Given the description of an element on the screen output the (x, y) to click on. 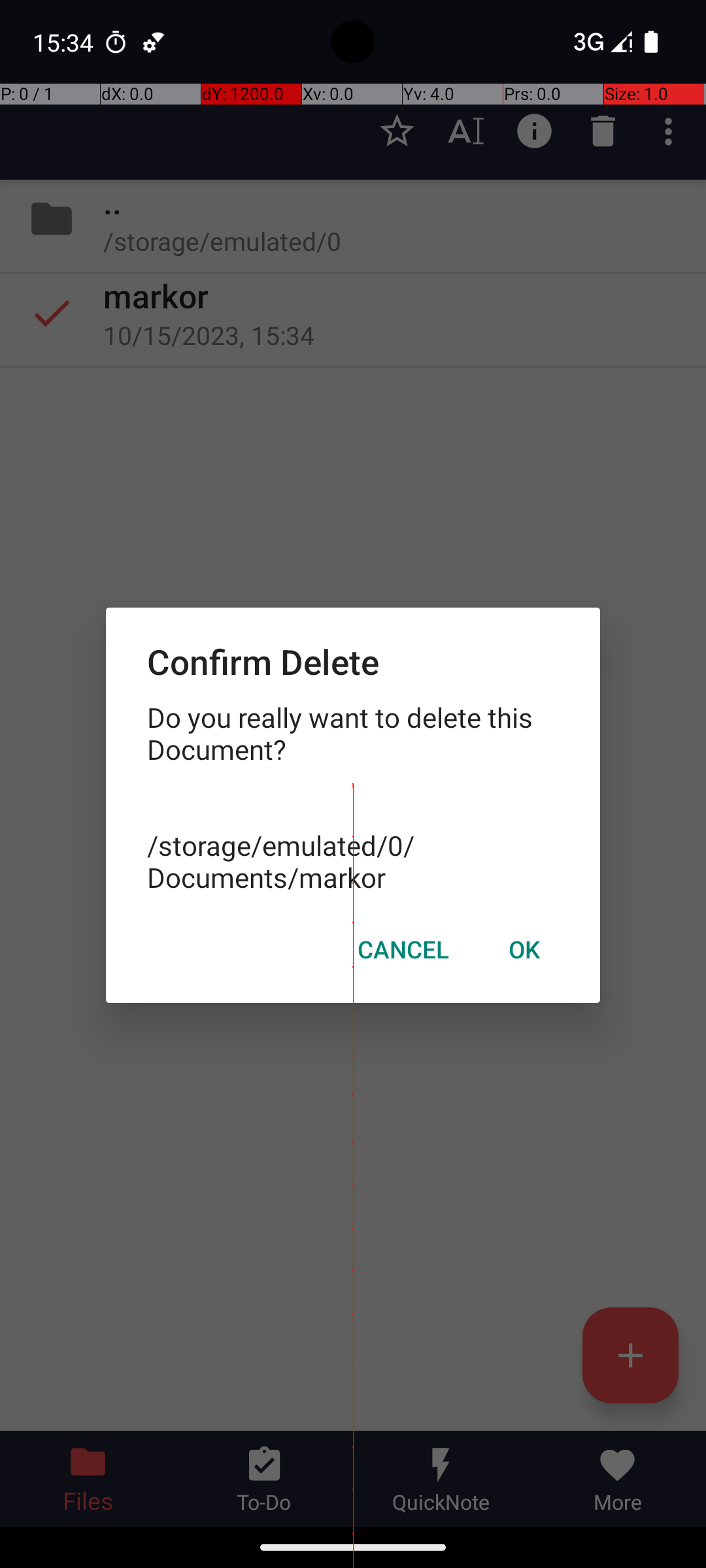
Confirm Delete Element type: android.widget.TextView (352, 661)
Do you really want to delete this Document?


/storage/emulated/0/Documents/markor Element type: android.widget.TextView (352, 796)
